Given the description of an element on the screen output the (x, y) to click on. 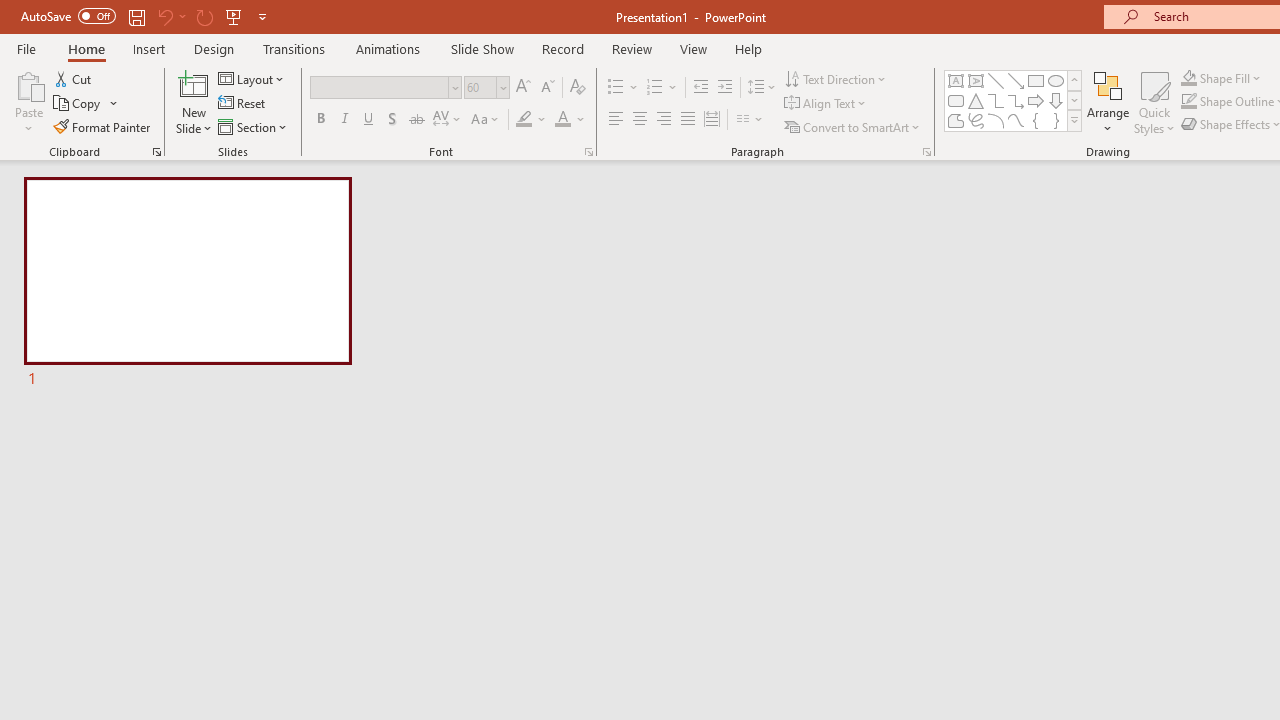
Font (379, 87)
Arrow: Down (1055, 100)
Decrease Font Size (547, 87)
Shapes (1074, 120)
Freeform: Shape (955, 120)
Change Case (486, 119)
Reset (243, 103)
Copy (85, 103)
Text Direction (836, 78)
Clear Formatting (577, 87)
Font Size (486, 87)
Decrease Indent (700, 87)
Underline (369, 119)
Convert to SmartArt (853, 126)
AutomationID: ShapesInsertGallery (1014, 100)
